Given the description of an element on the screen output the (x, y) to click on. 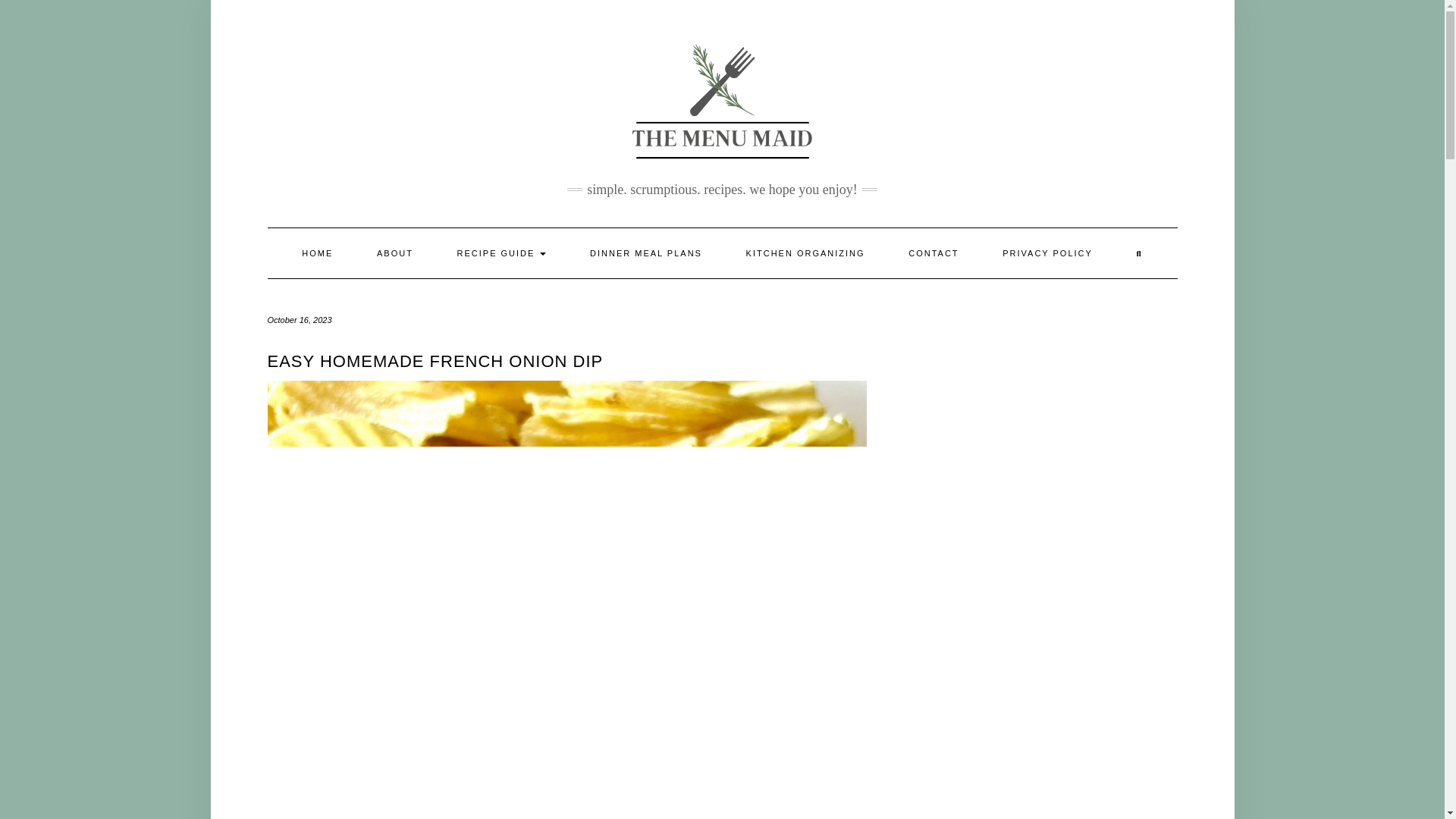
Pinterest (1149, 20)
Facebook (1113, 20)
YouTube (1167, 20)
Instagram (1130, 20)
DINNER MEAL PLANS (645, 253)
ABOUT (394, 253)
KITCHEN ORGANIZING (805, 253)
CONTACT (933, 253)
RECIPE GUIDE (501, 253)
Pinterest (1149, 20)
